Given the description of an element on the screen output the (x, y) to click on. 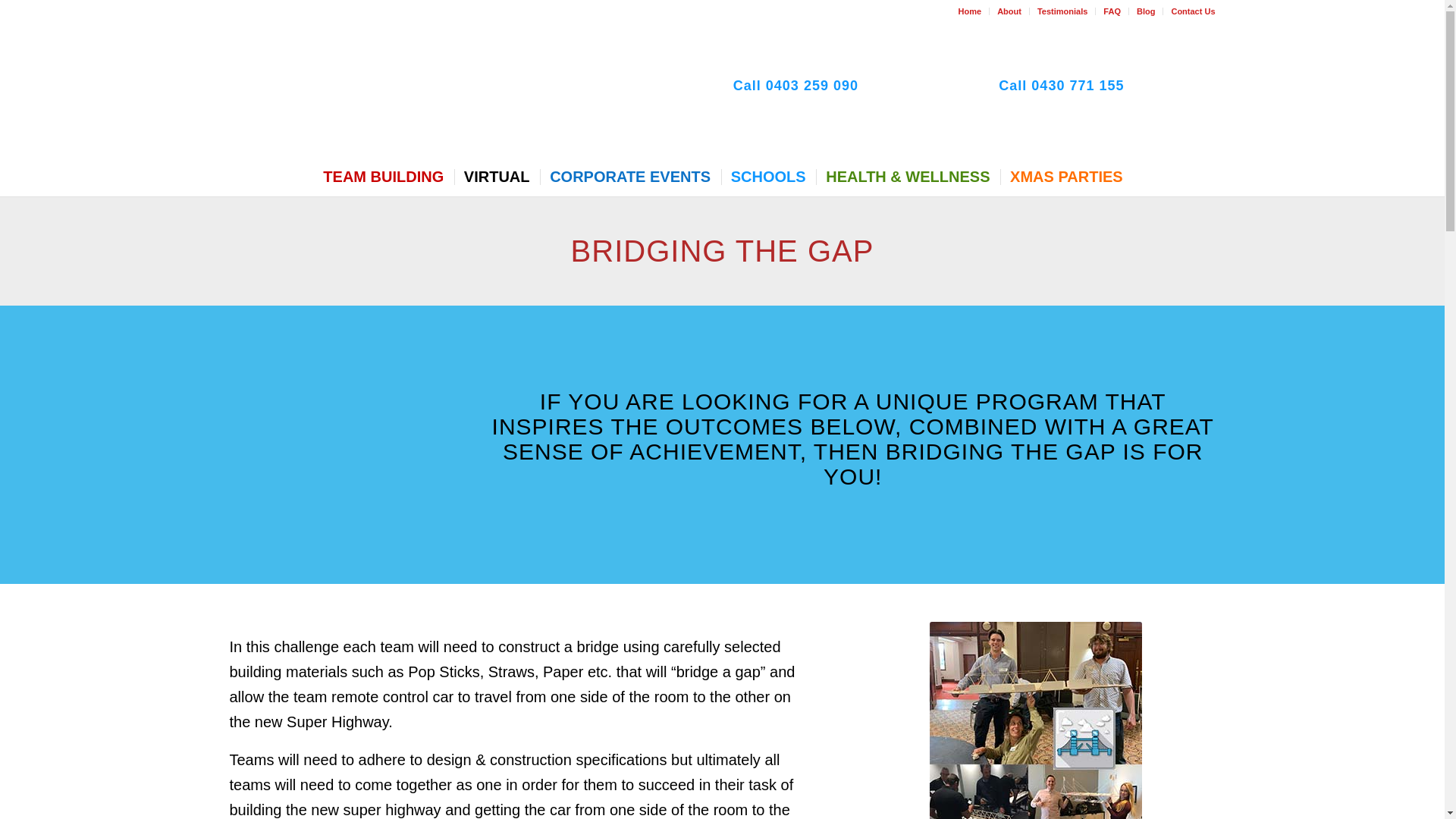
Call 0430 771 155 (1061, 85)
Contact Us (1192, 11)
Testimonials (1061, 11)
Home (969, 11)
Blog (1145, 11)
About (1009, 11)
XMAS PARTIES (1065, 176)
VIRTUAL (495, 176)
Bridging The Gap Proposal Image 577x280 (1035, 720)
SCHOOLS (766, 176)
